Given the description of an element on the screen output the (x, y) to click on. 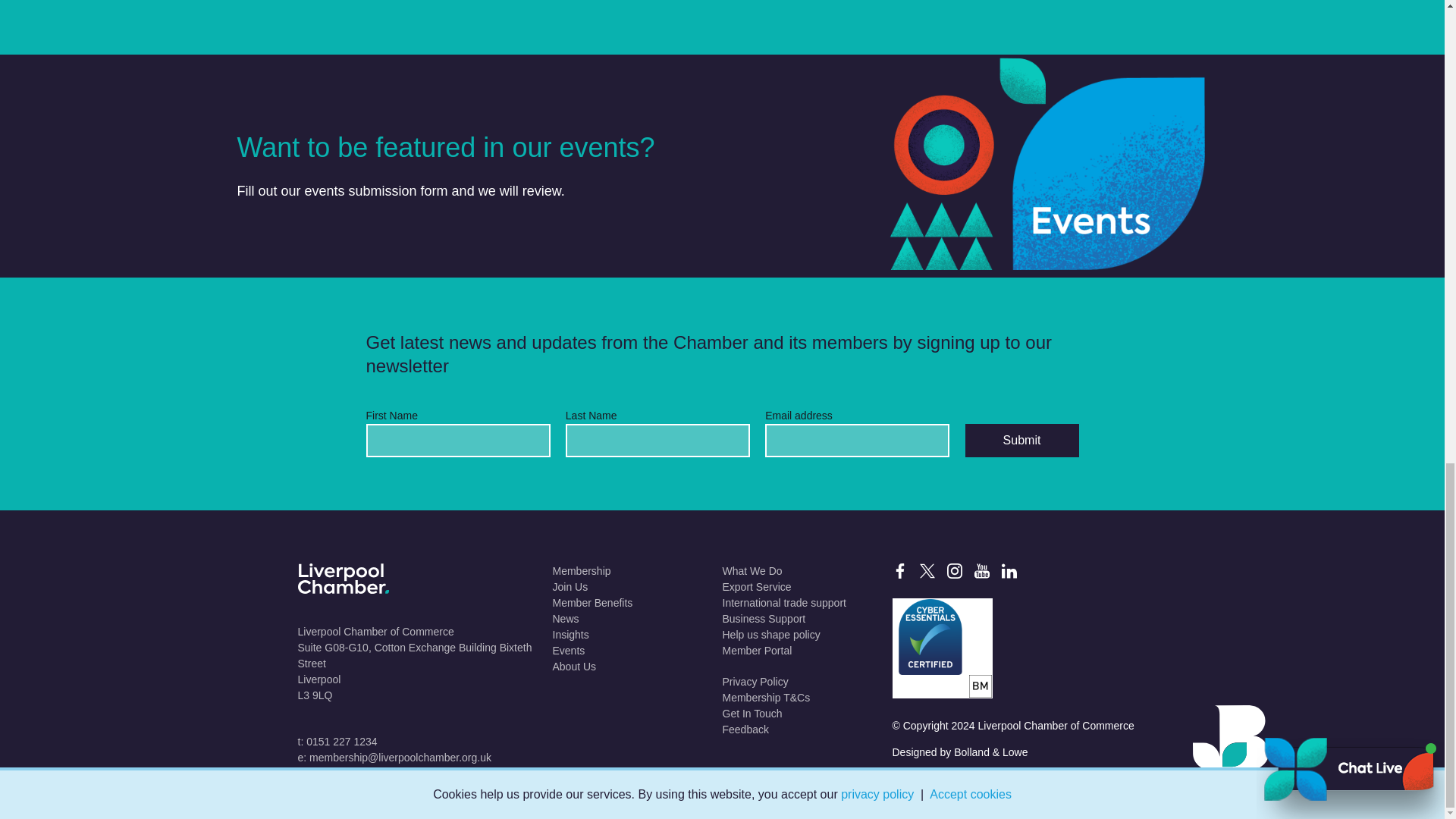
Call us on 0151 227 1234 (337, 741)
Submit (1020, 440)
